Given the description of an element on the screen output the (x, y) to click on. 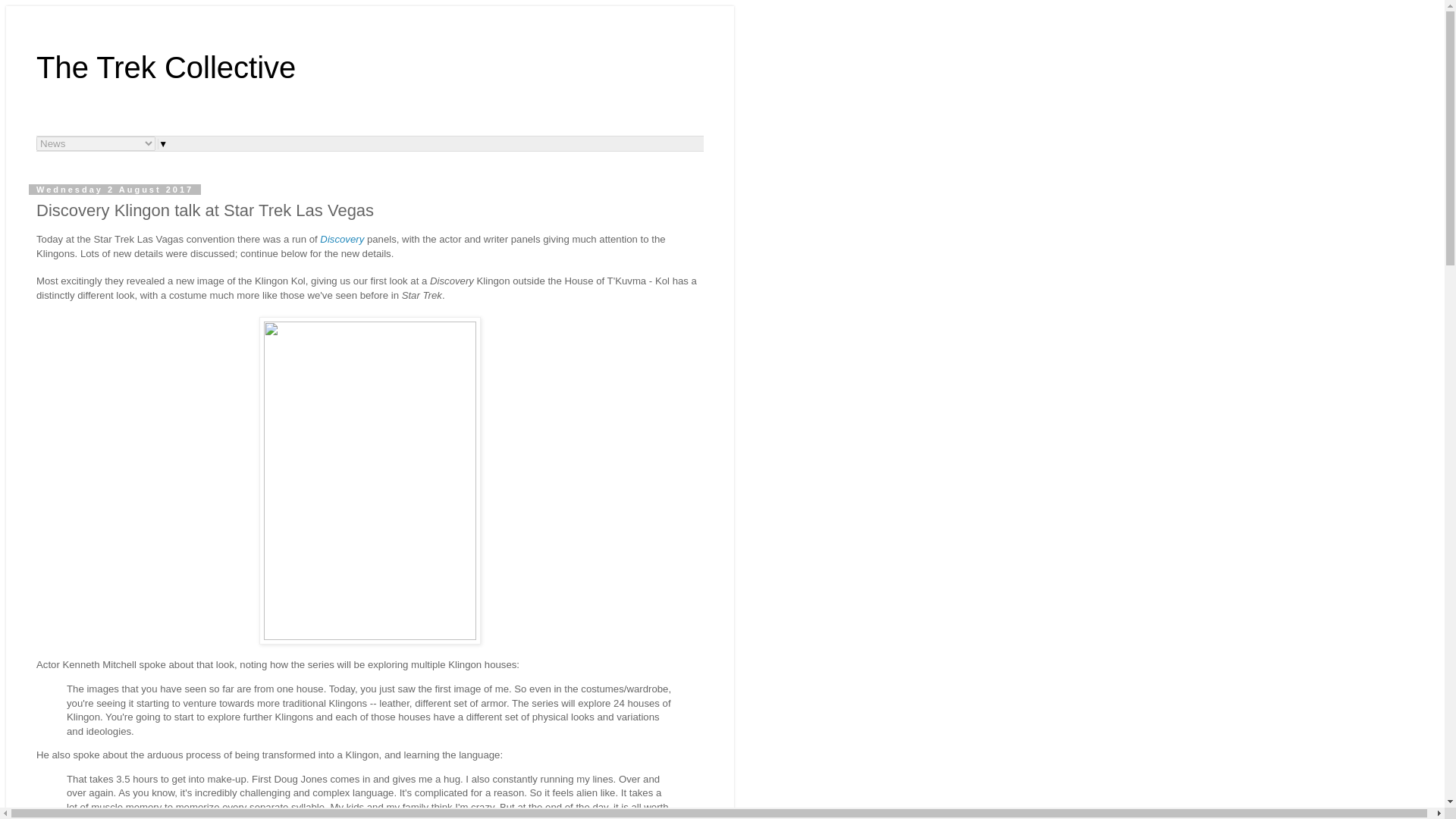
Discovery (342, 238)
The Trek Collective (165, 67)
